Given the description of an element on the screen output the (x, y) to click on. 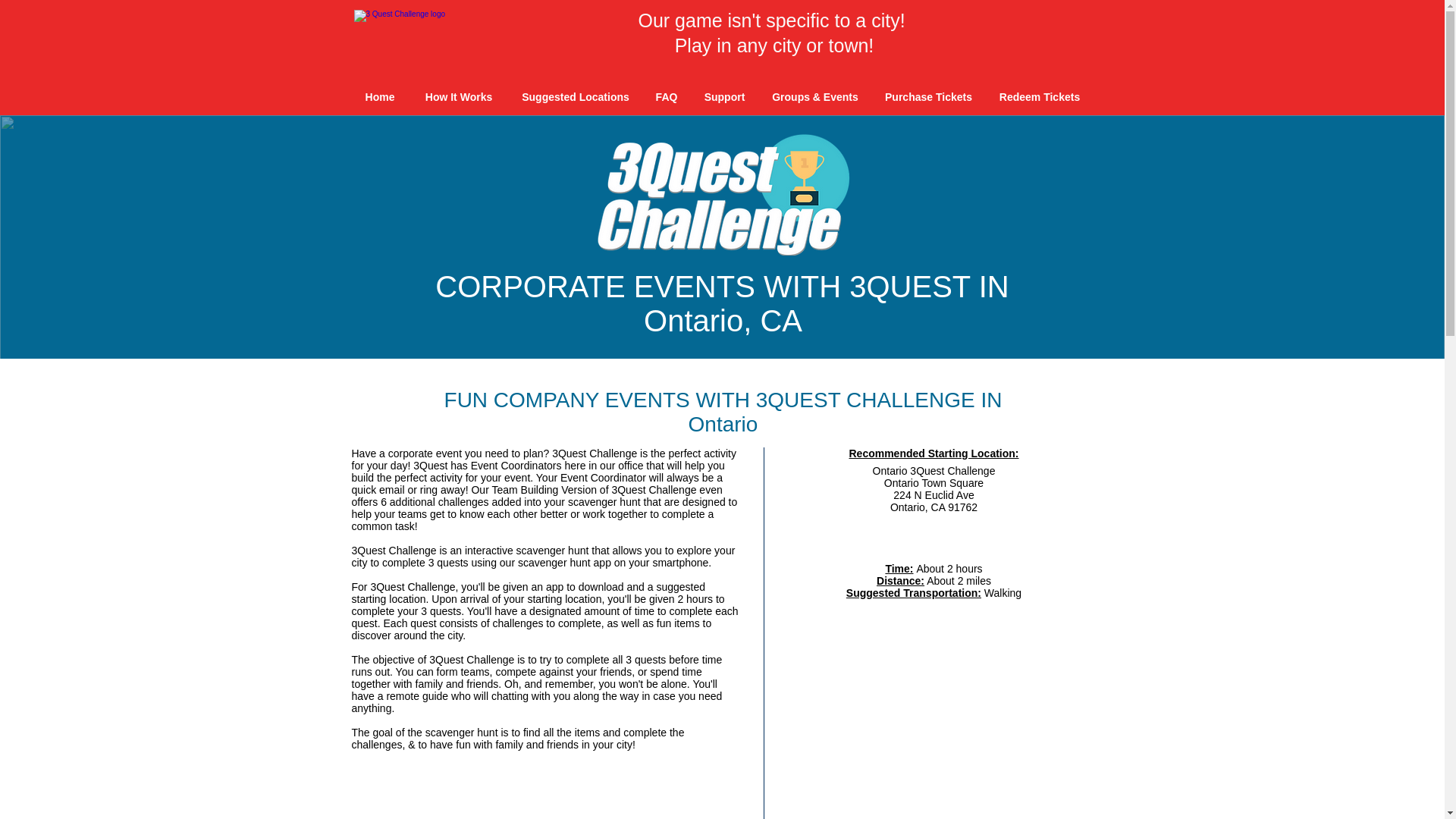
Purchase Tickets (928, 97)
Home (379, 97)
Play 3 Quest Challenge today! (721, 193)
Play 3 Quest Challenge walking tour today! (410, 36)
Suggested Locations (575, 97)
How It Works (458, 97)
Redeem Tickets (1039, 97)
FAQ (666, 97)
Support (724, 97)
